Given the description of an element on the screen output the (x, y) to click on. 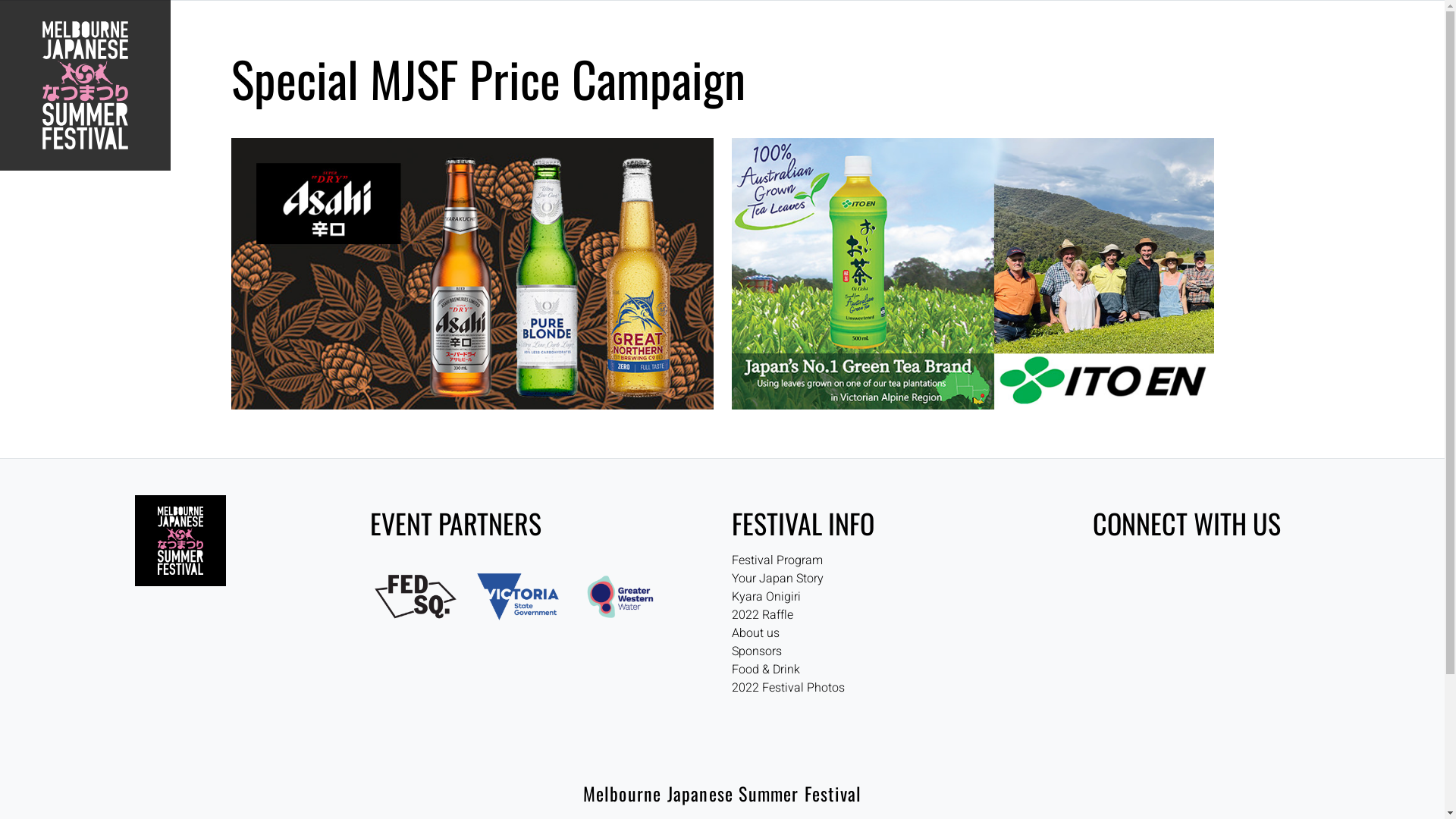
Sponsors Element type: text (756, 651)
2022 Raffle Element type: text (761, 614)
2022 Festival Photos Element type: text (787, 687)
Festival Program Element type: text (776, 560)
Kyara Onigiri Element type: text (765, 596)
Your Japan Story Element type: text (776, 578)
About us Element type: text (754, 633)
Food & Drink Element type: text (765, 669)
